Given the description of an element on the screen output the (x, y) to click on. 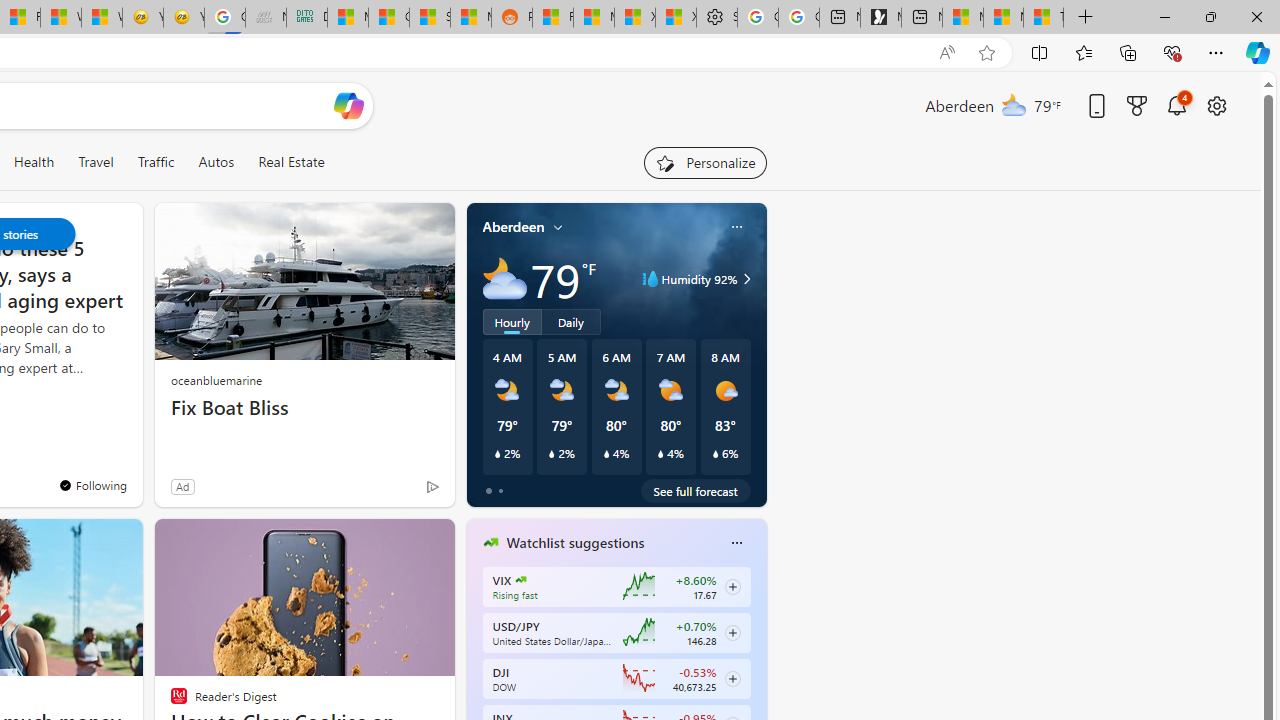
Real Estate (291, 161)
Mostly cloudy (504, 278)
Class: weather-arrow-glyph (746, 278)
Hourly (511, 321)
Health (34, 161)
Traffic (155, 161)
Traffic (155, 162)
Fix Boat Bliss (304, 407)
